Given the description of an element on the screen output the (x, y) to click on. 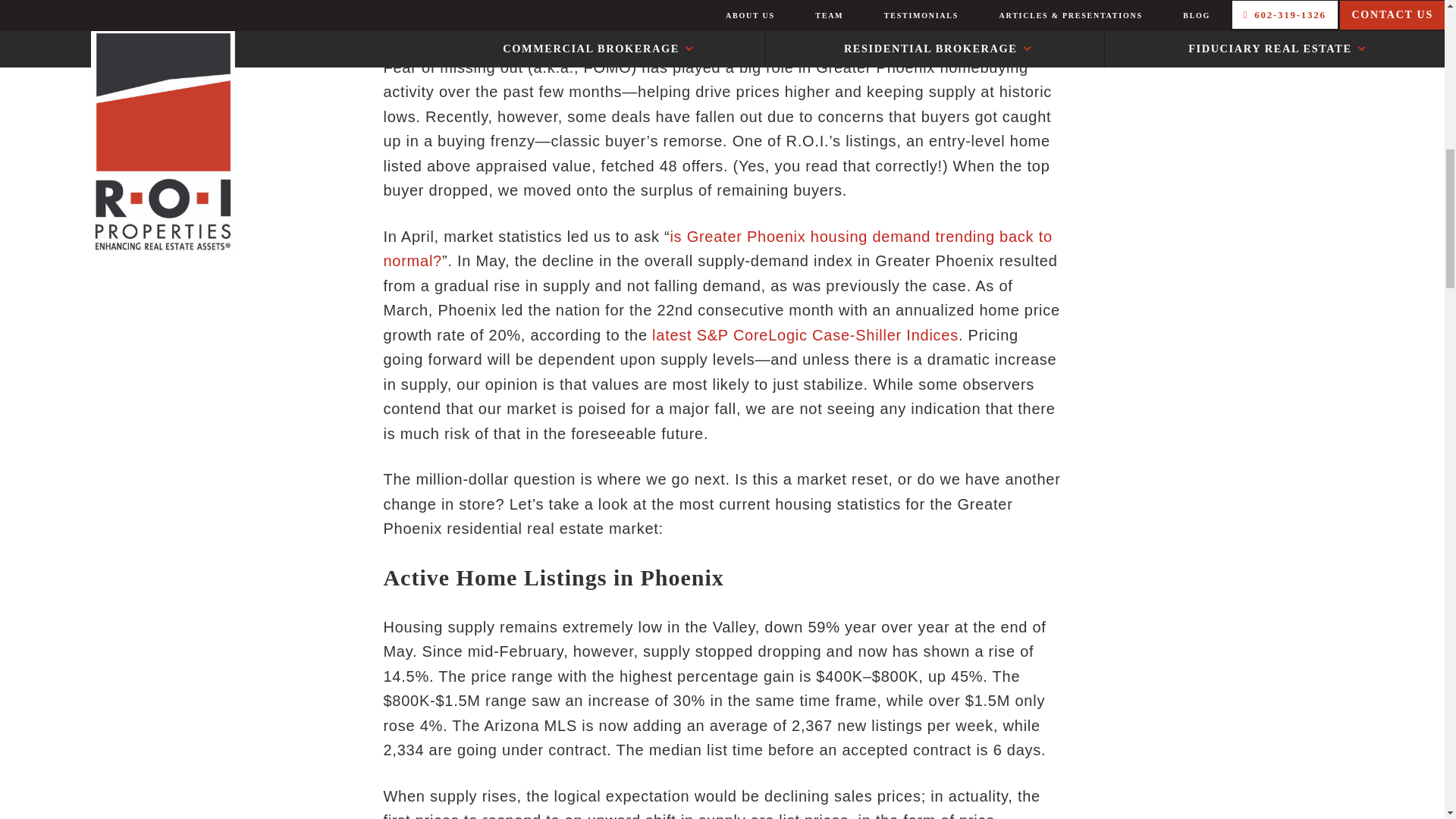
Email (614, 16)
Twitter (700, 16)
Facebook (524, 16)
Send over email (614, 16)
Share on X (700, 16)
is Greater Phoenix housing demand trending back to normal? (716, 249)
LinkedIn (424, 16)
Share on LinkedIn (424, 16)
Share on Facebook (524, 16)
